Given the description of an element on the screen output the (x, y) to click on. 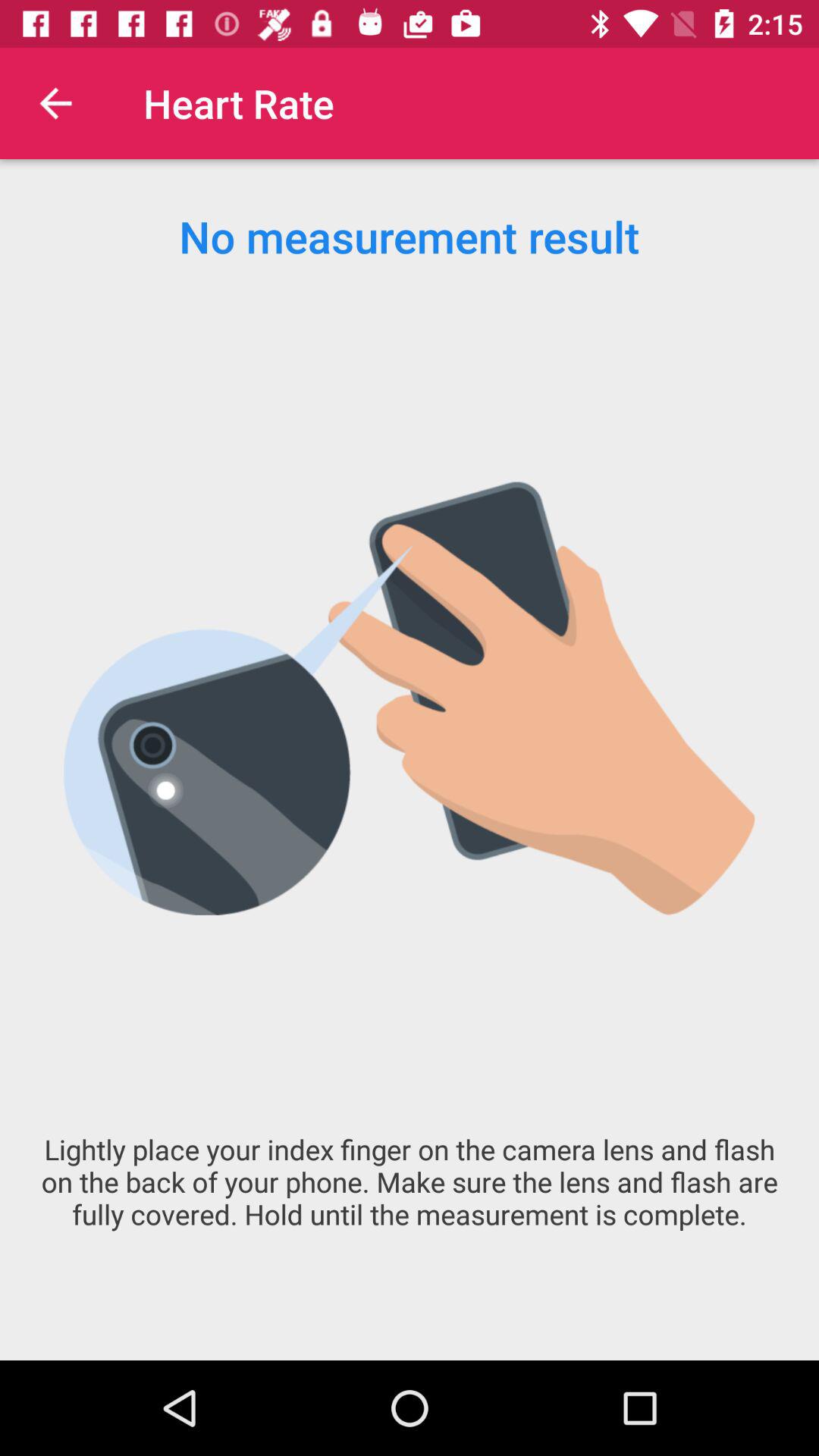
click app to the left of heart rate (55, 103)
